Given the description of an element on the screen output the (x, y) to click on. 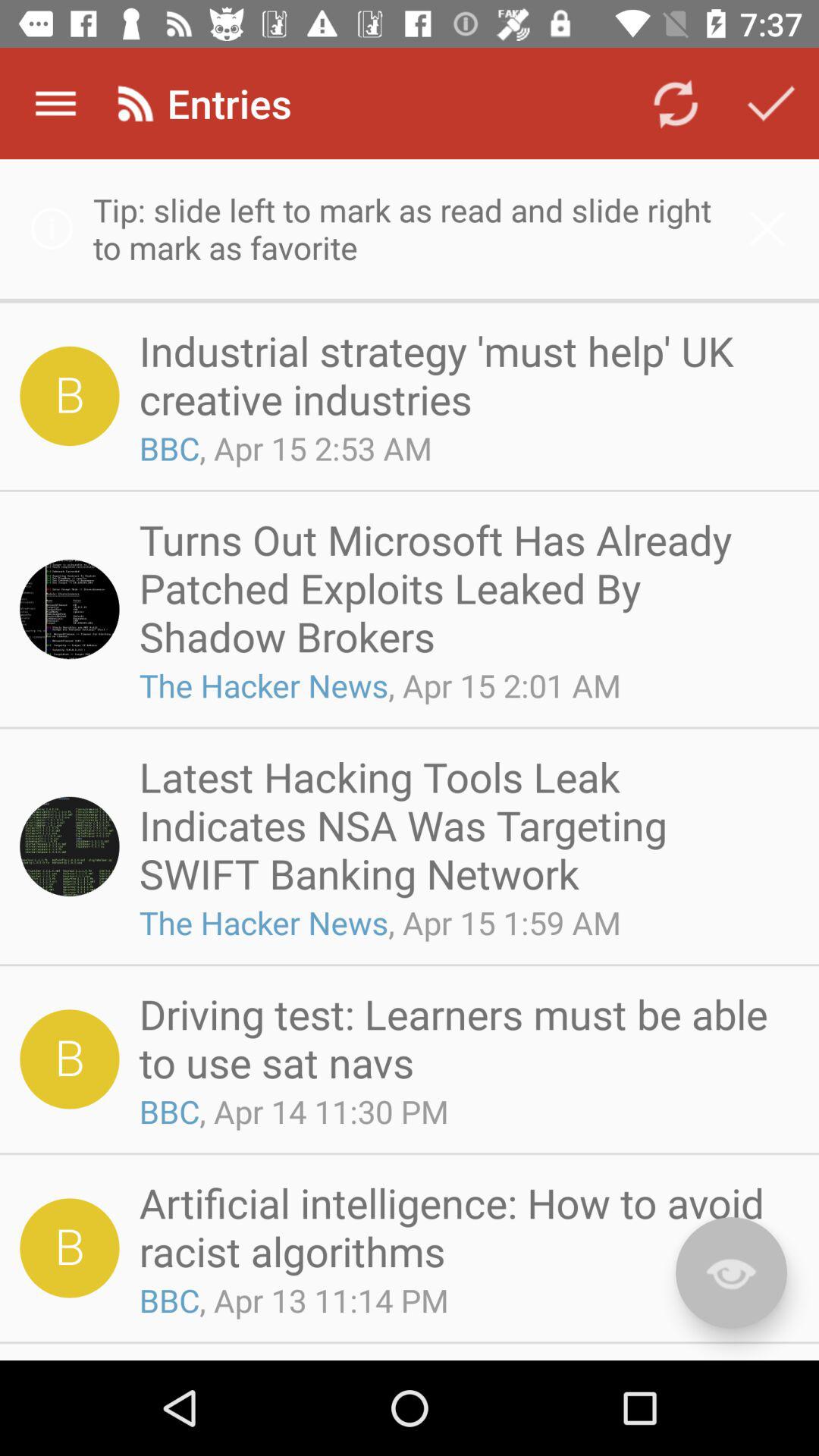
open the icon above industrial strategy must (409, 228)
